Given the description of an element on the screen output the (x, y) to click on. 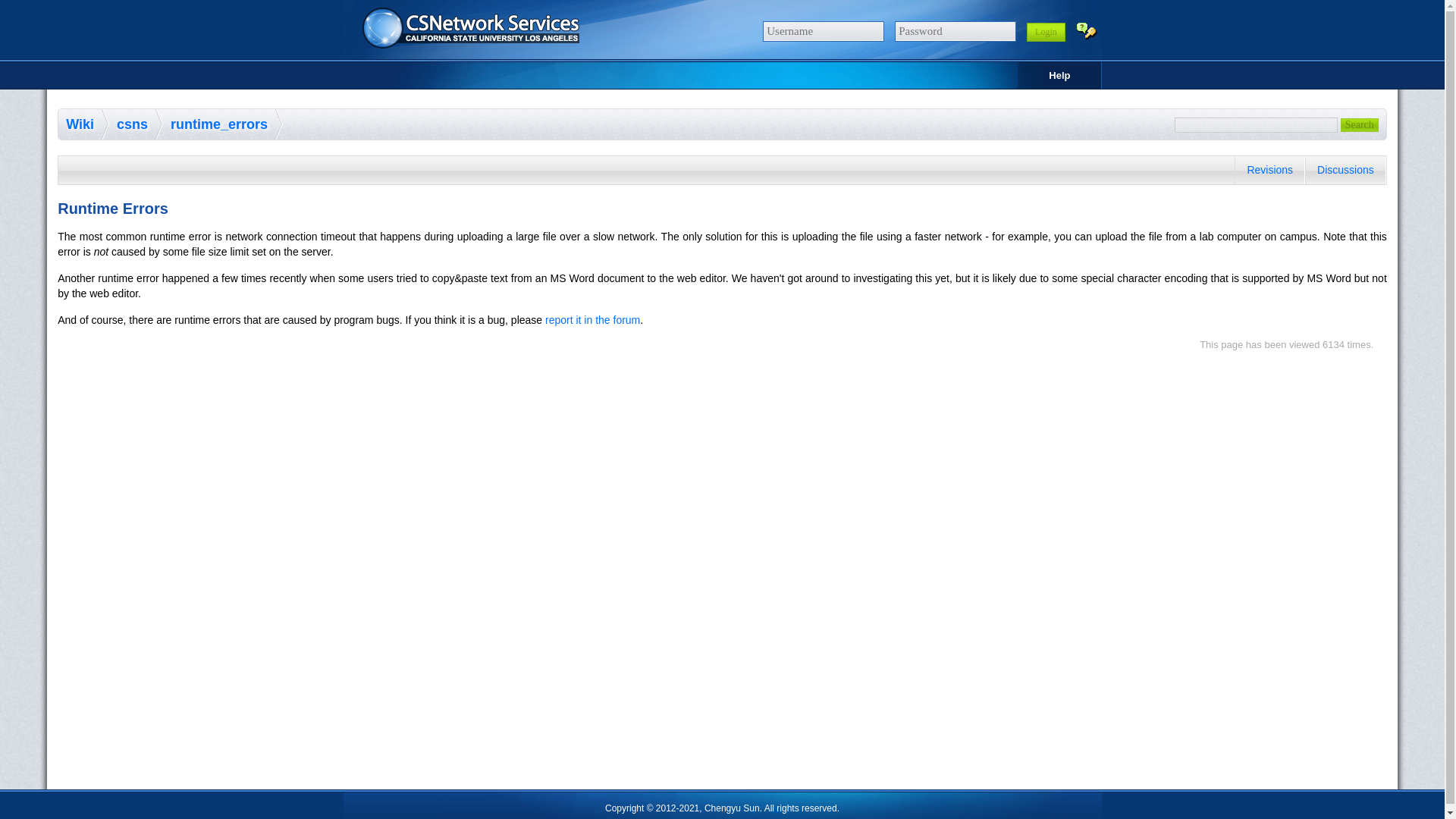
Forgot Password? (1086, 30)
Search (1359, 124)
Help (1058, 75)
Search (1359, 124)
report it in the forum (592, 319)
Discussions (1345, 170)
Login (1045, 31)
csns (139, 123)
Wiki (87, 123)
Revisions (1269, 170)
